Given the description of an element on the screen output the (x, y) to click on. 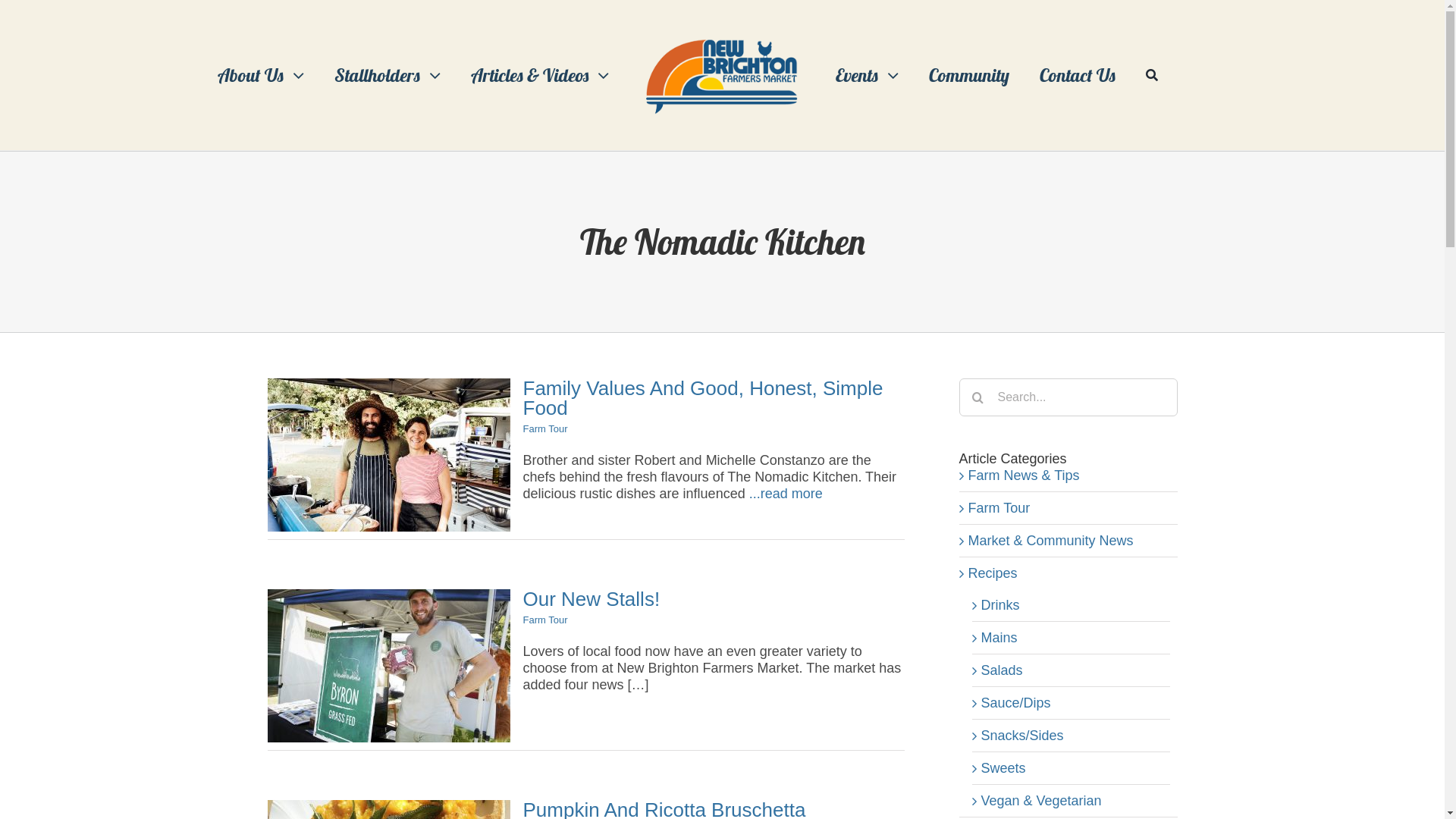
Sweets Element type: text (1071, 767)
Family Values And Good, Honest, Simple Food Element type: text (703, 397)
Vegan & Vegetarian Element type: text (1071, 800)
Farm News & Tips Element type: text (1068, 475)
Farm Tour Element type: text (545, 428)
...read more Element type: text (785, 493)
Market & Community News Element type: text (1068, 540)
Search Element type: hover (1151, 74)
Salads Element type: text (1071, 670)
Snacks/Sides Element type: text (1071, 735)
Stallholders Element type: text (387, 74)
Sauce/Dips Element type: text (1071, 702)
Mains Element type: text (1071, 637)
Contact Us Element type: text (1077, 74)
Articles & Videos Element type: text (539, 74)
Events Element type: text (866, 74)
Community Element type: text (968, 74)
About Us Element type: text (260, 74)
Our New Stalls! Element type: text (591, 598)
Farm Tour Element type: text (1068, 507)
Farm Tour Element type: text (545, 619)
Recipes Element type: text (1068, 572)
Drinks Element type: text (1071, 604)
